Given the description of an element on the screen output the (x, y) to click on. 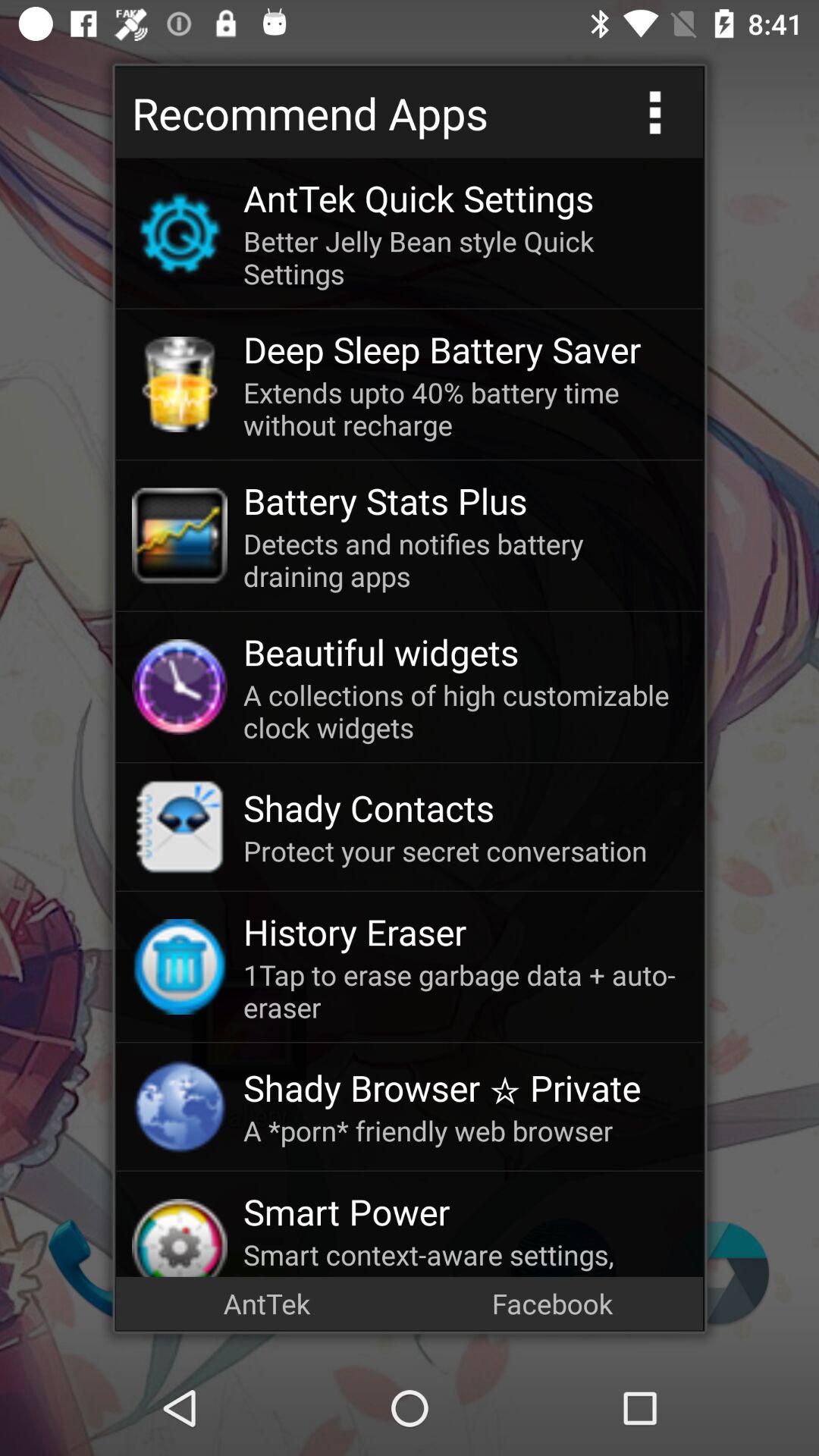
swipe until smart power app (465, 1211)
